Given the description of an element on the screen output the (x, y) to click on. 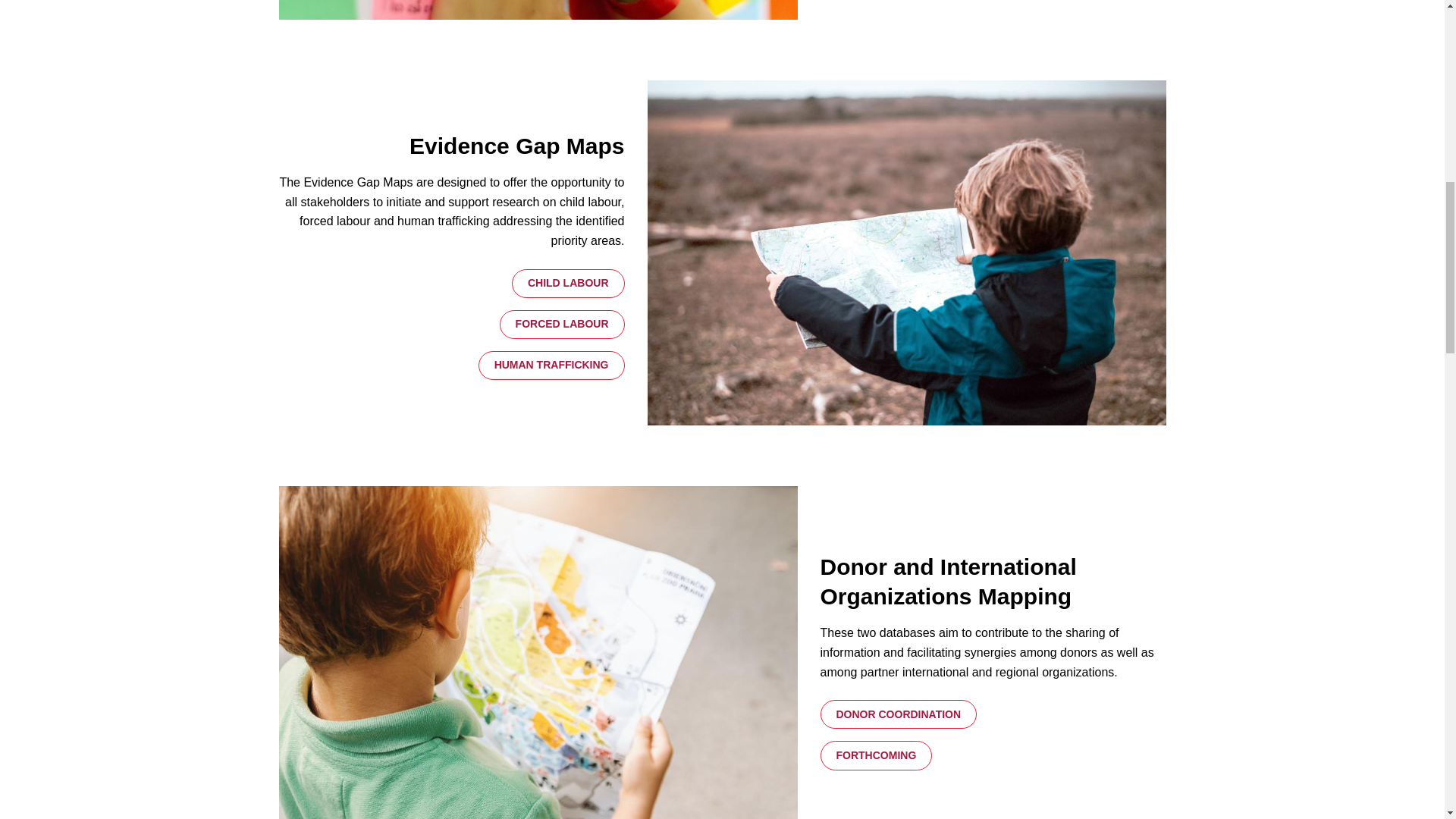
CHILD LABOUR (568, 283)
HUMAN TRAFFICKING (551, 365)
FORCED LABOUR (561, 324)
DONOR COORDINATION (898, 714)
FORTHCOMING (877, 755)
